Given the description of an element on the screen output the (x, y) to click on. 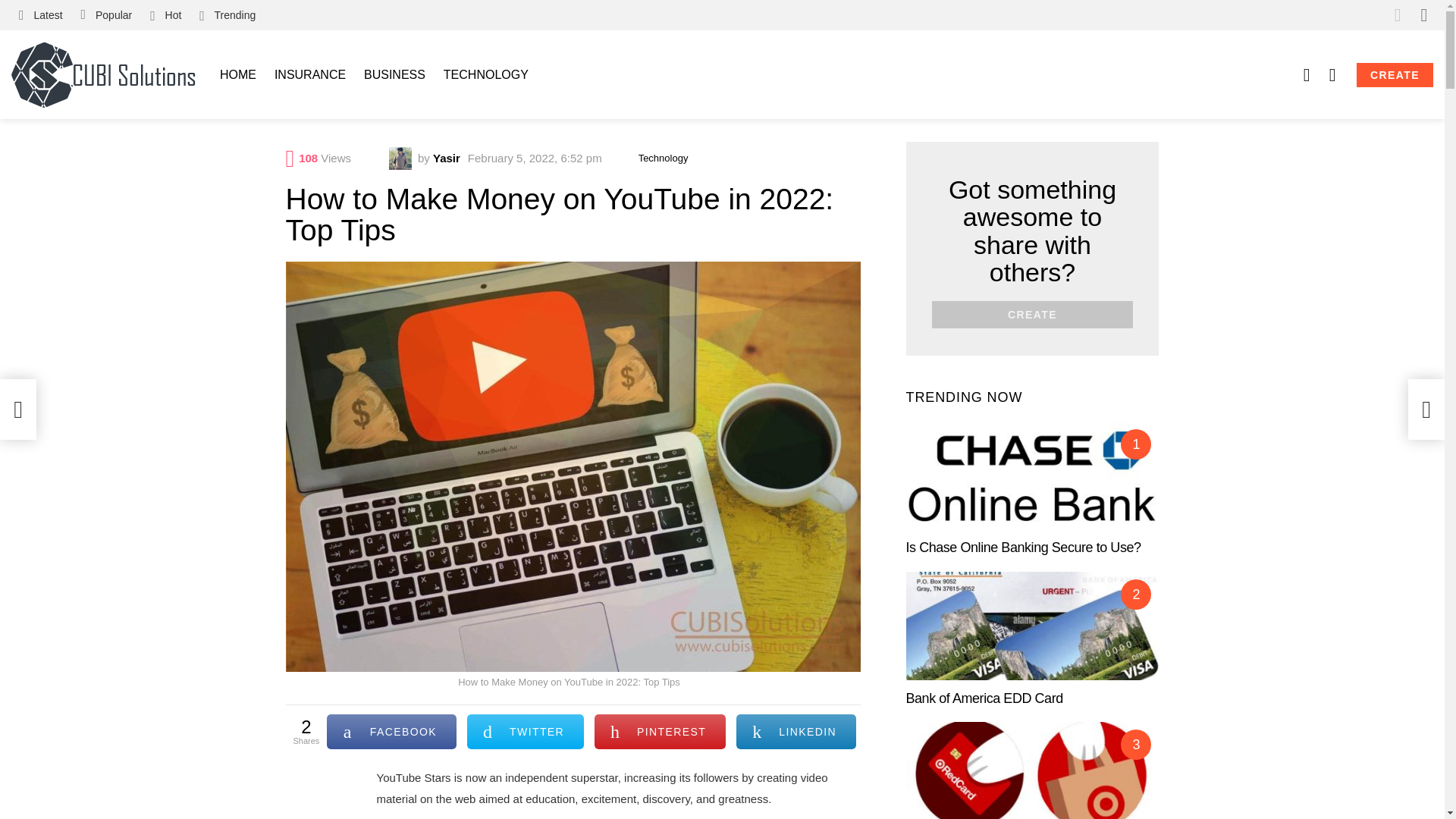
Hot (165, 14)
INSURANCE (309, 74)
Posts by Yasir (446, 157)
Share on LinkedIn (796, 731)
Popular (105, 14)
CREATE (1394, 74)
LINKEDIN (796, 731)
Technology (662, 158)
Yasir (446, 157)
Share on Facebook (390, 731)
HOME (237, 74)
TWITTER (525, 731)
PINTEREST (659, 731)
Trending (227, 14)
Latest (40, 14)
